Given the description of an element on the screen output the (x, y) to click on. 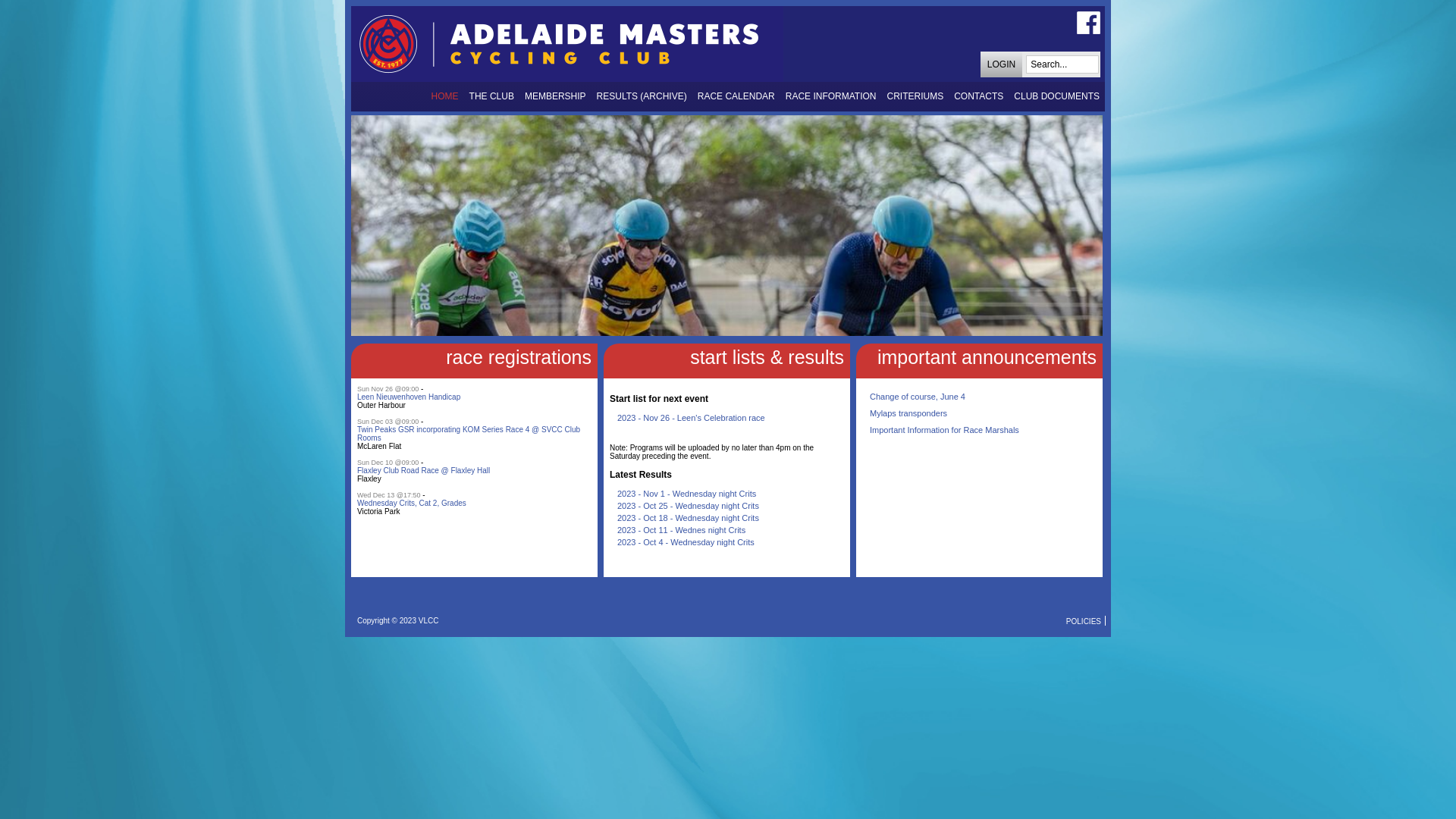
Important Information for Race Marshals Element type: text (944, 429)
Flaxley Club Road Race @ Flaxley Hall Element type: text (423, 470)
HOME Element type: text (445, 96)
2023 - Nov 26 - Leen's Celebration race Element type: text (691, 417)
Wednesday Crits, Cat 2, Grades Element type: text (411, 502)
  Element type: text (610, 561)
RACE INFORMATION Element type: text (830, 96)
2023 - Nov 1 - Wednesday night Crits Element type: text (686, 493)
RACE CALENDAR Element type: text (736, 96)
POLICIES Element type: text (1083, 620)
Leen Nieuwenhoven Handicap Element type: text (408, 396)
LOGIN Element type: text (1001, 66)
2023 - Oct 18 - Wednesday night Crits Element type: text (688, 517)
Change of course, June 4 Element type: text (917, 396)
THE CLUB Element type: text (491, 96)
MEMBERSHIP Element type: text (555, 96)
2023 - Oct 4 - Wednesday night Crits Element type: text (685, 541)
CONTACTS Element type: text (978, 96)
RESULTS (ARCHIVE) Element type: text (641, 96)
Mylaps transponders Element type: text (908, 412)
2023 - Oct 25 - Wednesday night Crits Element type: text (688, 505)
CLUB DOCUMENTS Element type: text (1056, 96)
2023 - Oct 11 - Wednes night Crits Element type: text (681, 529)
CRITERIUMS Element type: text (915, 96)
